Given the description of an element on the screen output the (x, y) to click on. 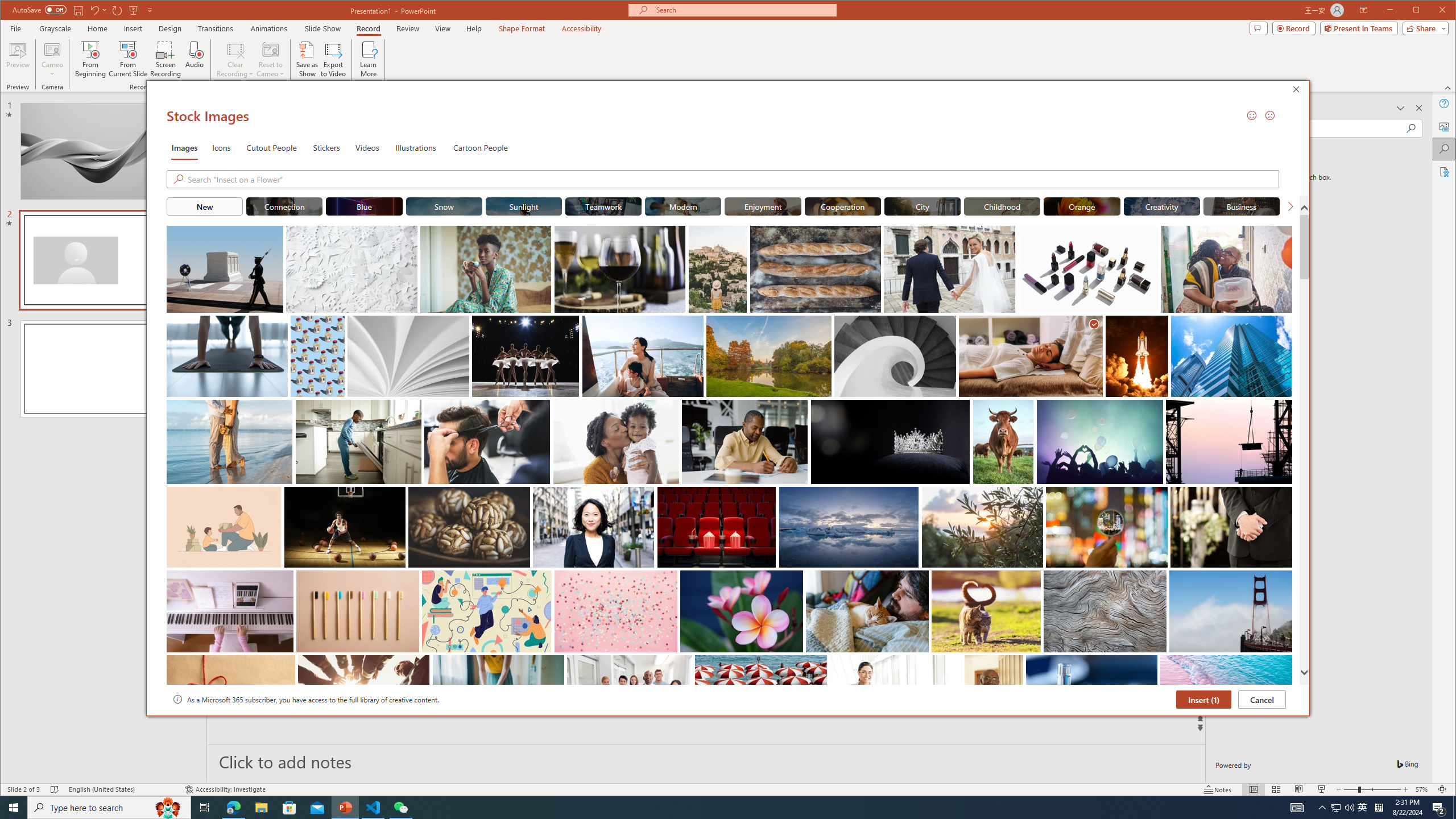
Icons (220, 147)
"Orange" Stock Images. (1082, 206)
